Given the description of an element on the screen output the (x, y) to click on. 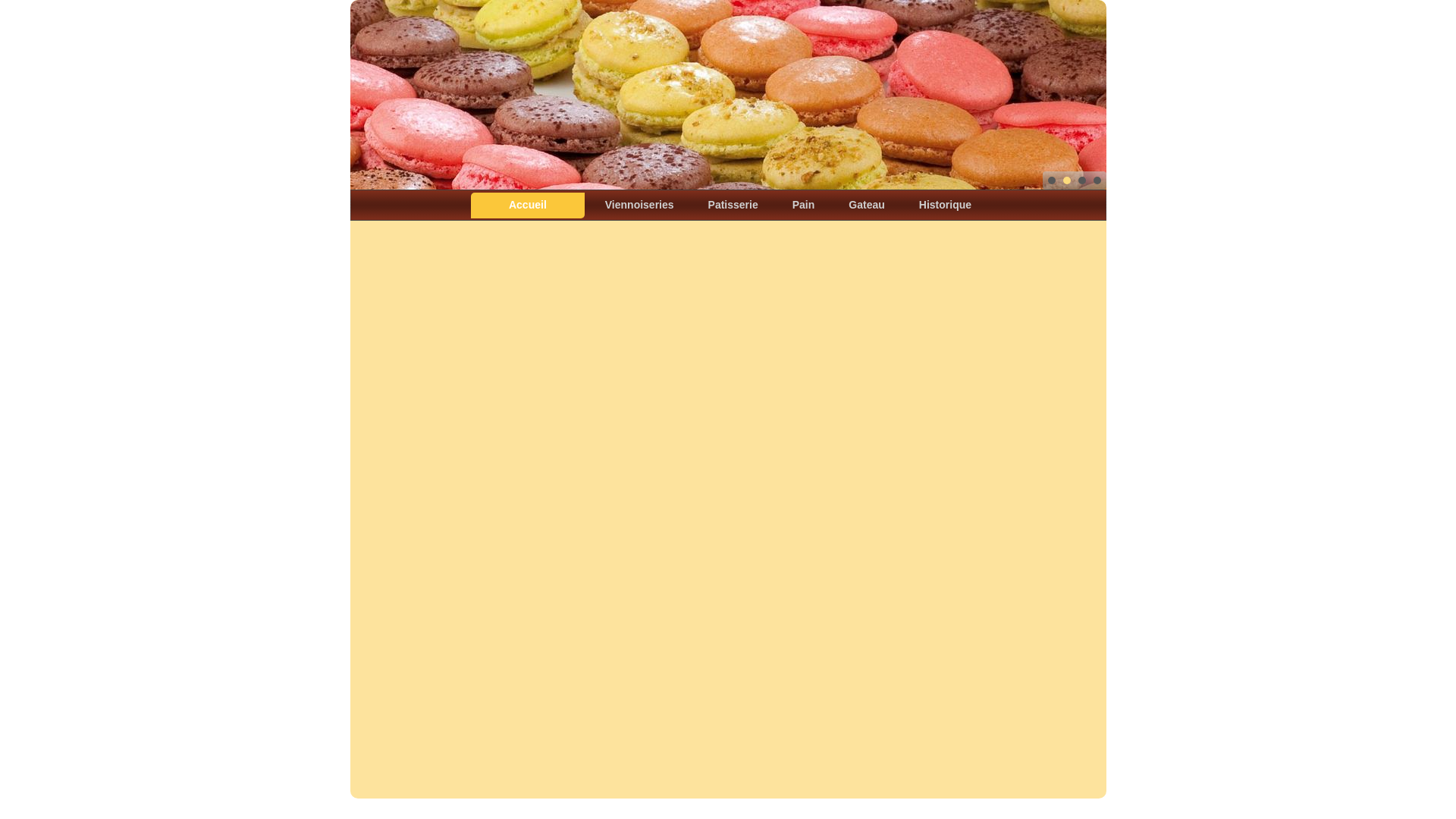
Gateau Element type: text (865, 204)
Historique Element type: text (945, 204)
Viennoiseries Element type: text (639, 204)
Pain Element type: text (803, 204)
Patisserie Element type: text (732, 204)
Accueil Element type: text (527, 205)
